Given the description of an element on the screen output the (x, y) to click on. 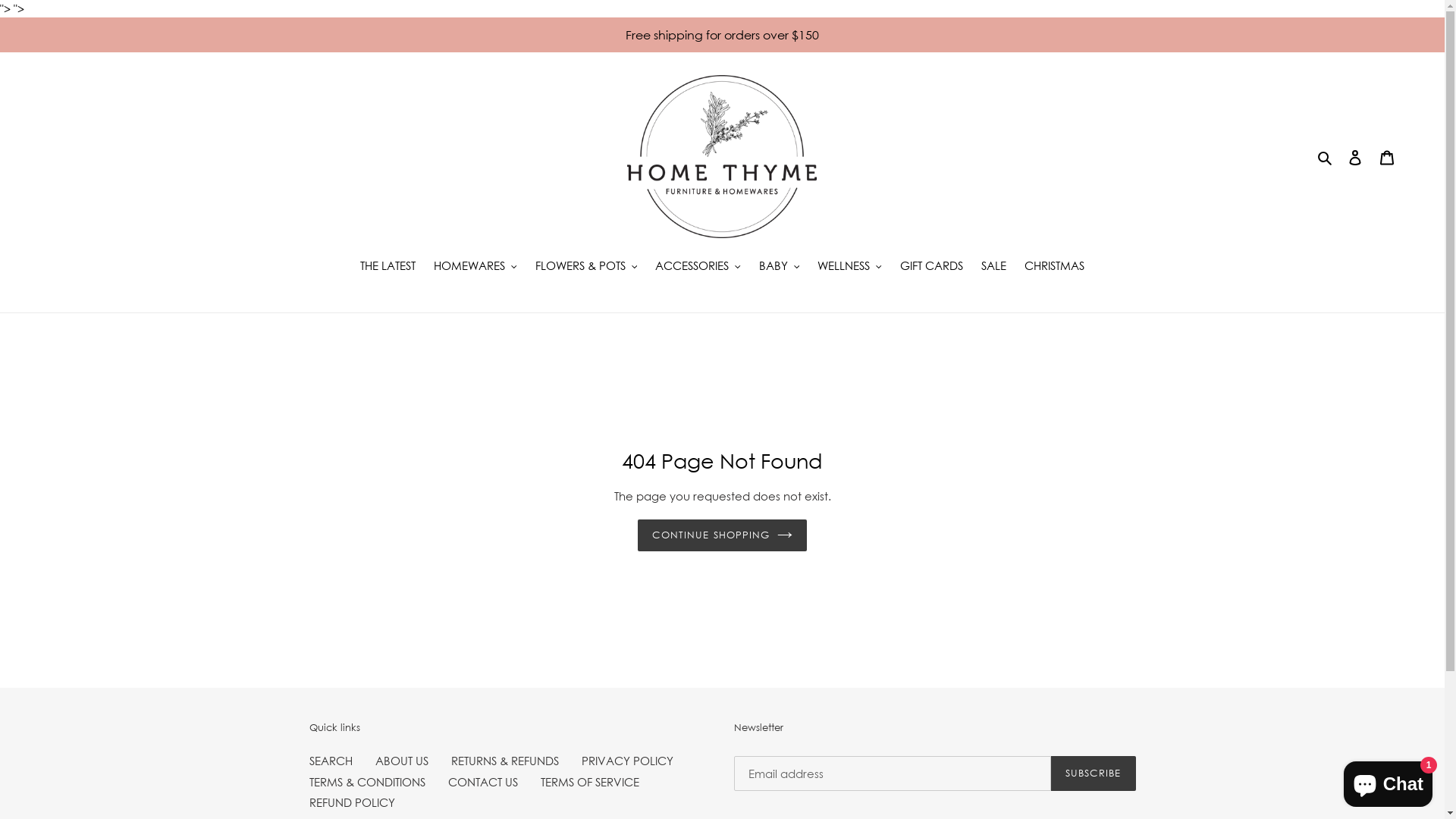
Log in Element type: text (1355, 156)
WELLNESS Element type: text (849, 266)
CONTINUE SHOPPING Element type: text (721, 534)
SALE Element type: text (993, 266)
ACCESSORIES Element type: text (697, 266)
BABY Element type: text (779, 266)
THE LATEST Element type: text (387, 266)
RETURNS & REFUNDS Element type: text (504, 759)
TERMS & CONDITIONS Element type: text (367, 780)
CONTACT US Element type: text (482, 780)
Cart Element type: text (1386, 156)
HOMEWARES Element type: text (475, 266)
GIFT CARDS Element type: text (931, 266)
SEARCH Element type: text (330, 759)
TERMS OF SERVICE Element type: text (588, 780)
PRIVACY POLICY Element type: text (626, 759)
FLOWERS & POTS Element type: text (586, 266)
Shopify online store chat Element type: hover (1388, 780)
Search Element type: text (1325, 156)
REFUND POLICY Element type: text (352, 801)
SUBSCRIBE Element type: text (1093, 772)
CHRISTMAS Element type: text (1054, 266)
ABOUT US Element type: text (400, 759)
